Given the description of an element on the screen output the (x, y) to click on. 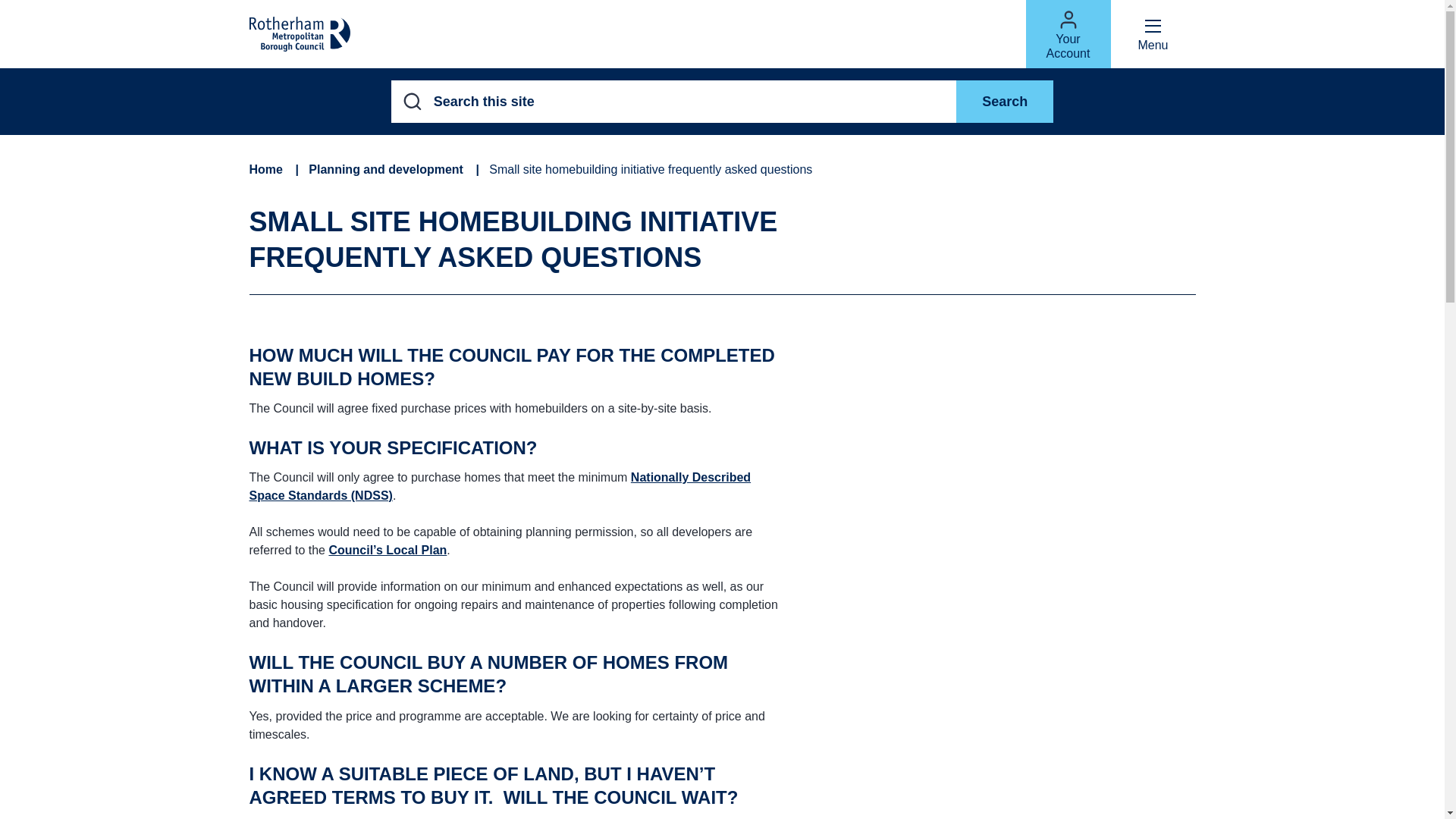
Menu (1152, 33)
Planning and development (385, 169)
Your Account (1067, 33)
Search (1004, 101)
Home (265, 169)
Rotherham Metropolitan Borough Council Home Page (298, 33)
